Given the description of an element on the screen output the (x, y) to click on. 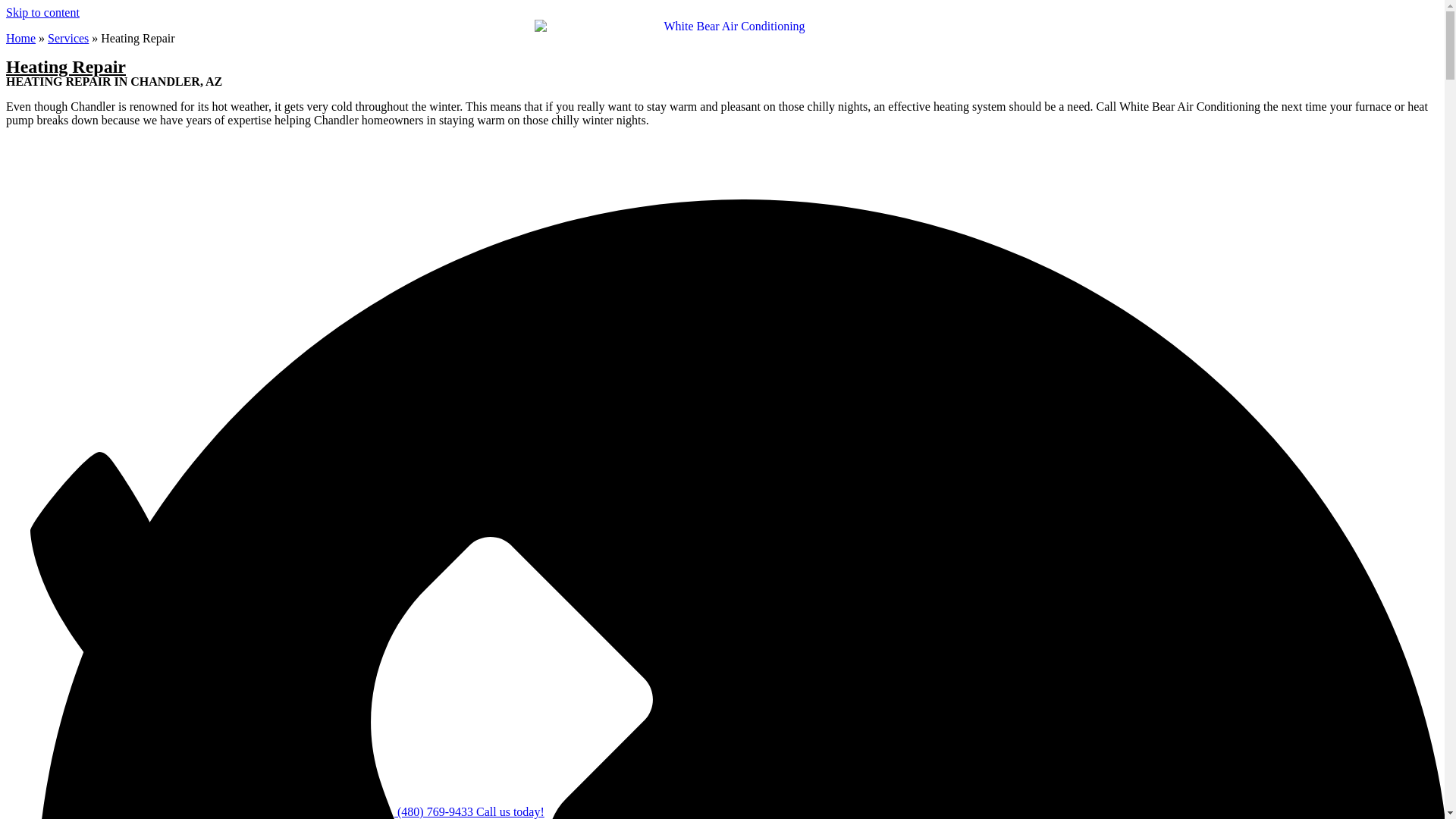
Services (68, 38)
Home (19, 38)
Heating Repair (65, 66)
Skip to content (42, 11)
